Given the description of an element on the screen output the (x, y) to click on. 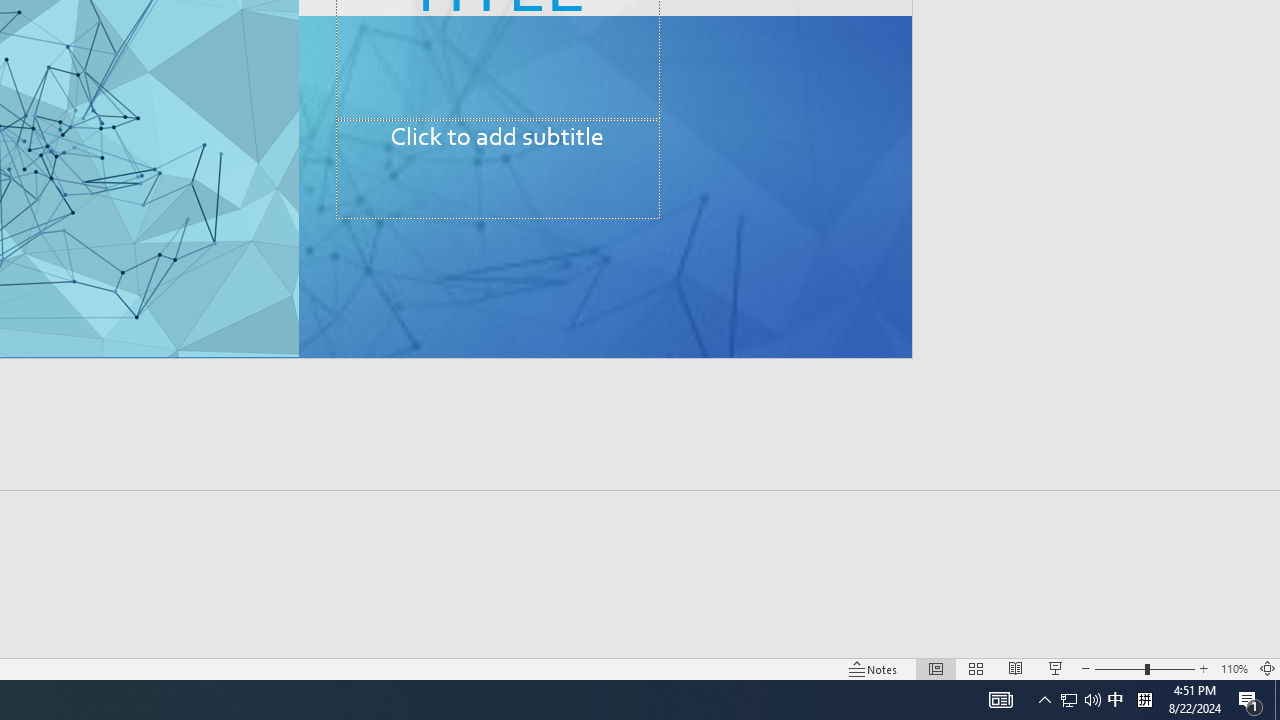
Zoom 110% (1234, 668)
